Given the description of an element on the screen output the (x, y) to click on. 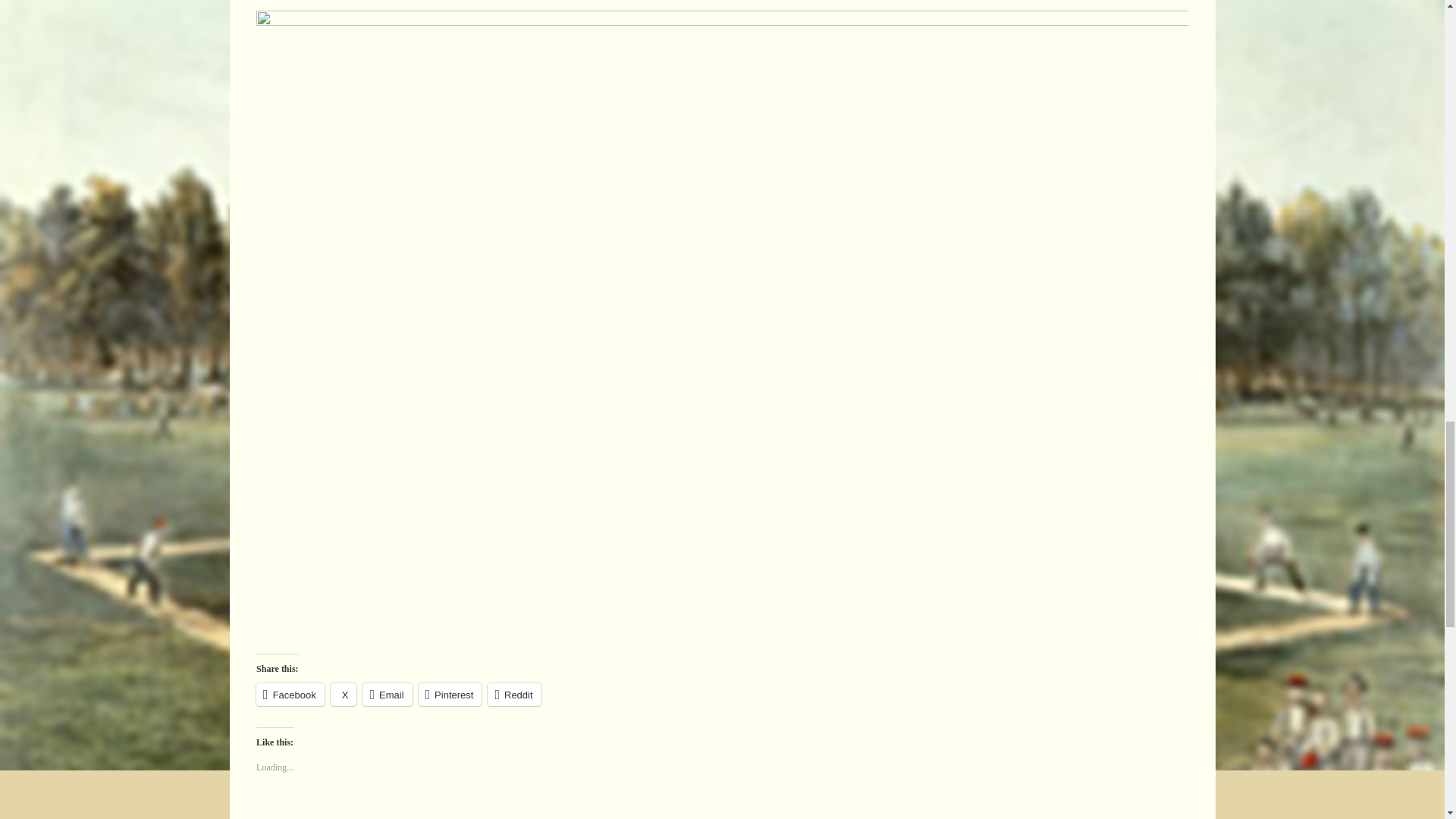
Click to share on Pinterest (450, 694)
Click to share on X (343, 694)
Pinterest (450, 694)
Facebook (290, 694)
X (343, 694)
Email (387, 694)
Click to share on Facebook (290, 694)
Click to share on Reddit (513, 694)
Reddit (513, 694)
Click to email a link to a friend (387, 694)
